Given the description of an element on the screen output the (x, y) to click on. 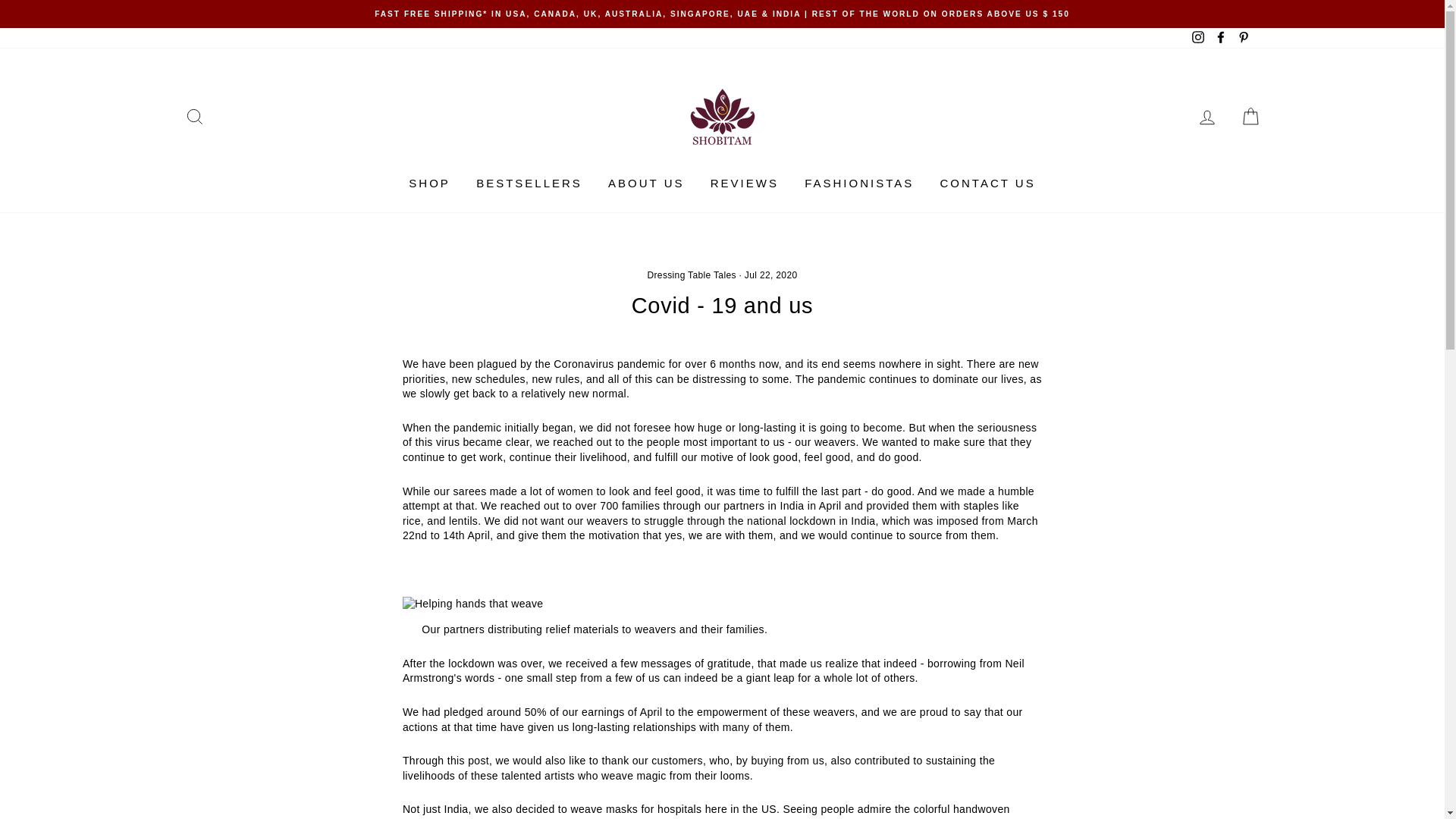
Shobitam on Instagram (1198, 37)
Shobitam on Pinterest (1242, 37)
Shobitam on Facebook (1220, 37)
